Given the description of an element on the screen output the (x, y) to click on. 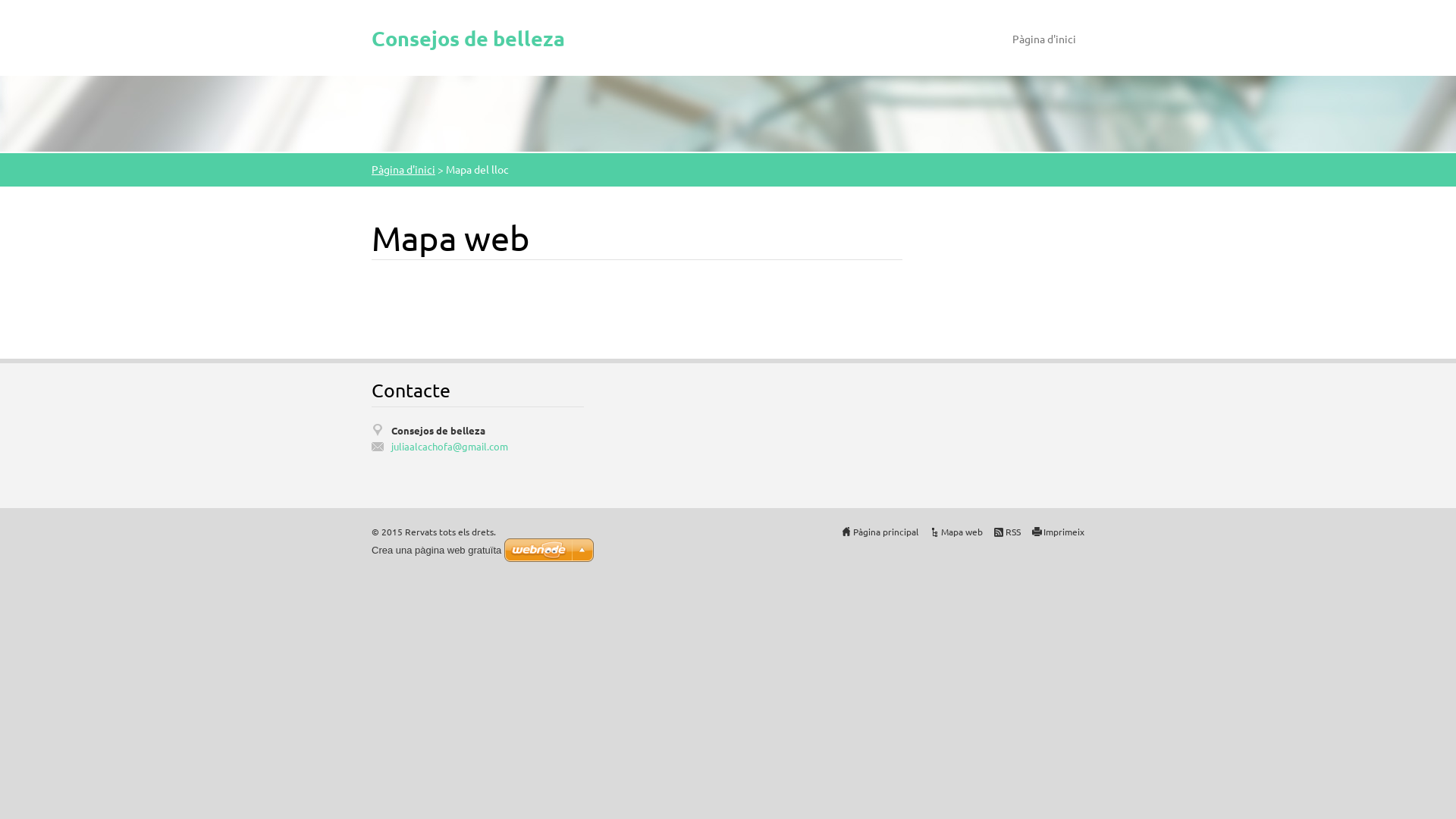
juliaalcachofa@gmail.com Element type: text (487, 446)
Consejos de belleza Element type: text (467, 34)
Mapa web Element type: text (961, 531)
Imprimeix Element type: text (1063, 531)
RSS Element type: text (1012, 531)
